Given the description of an element on the screen output the (x, y) to click on. 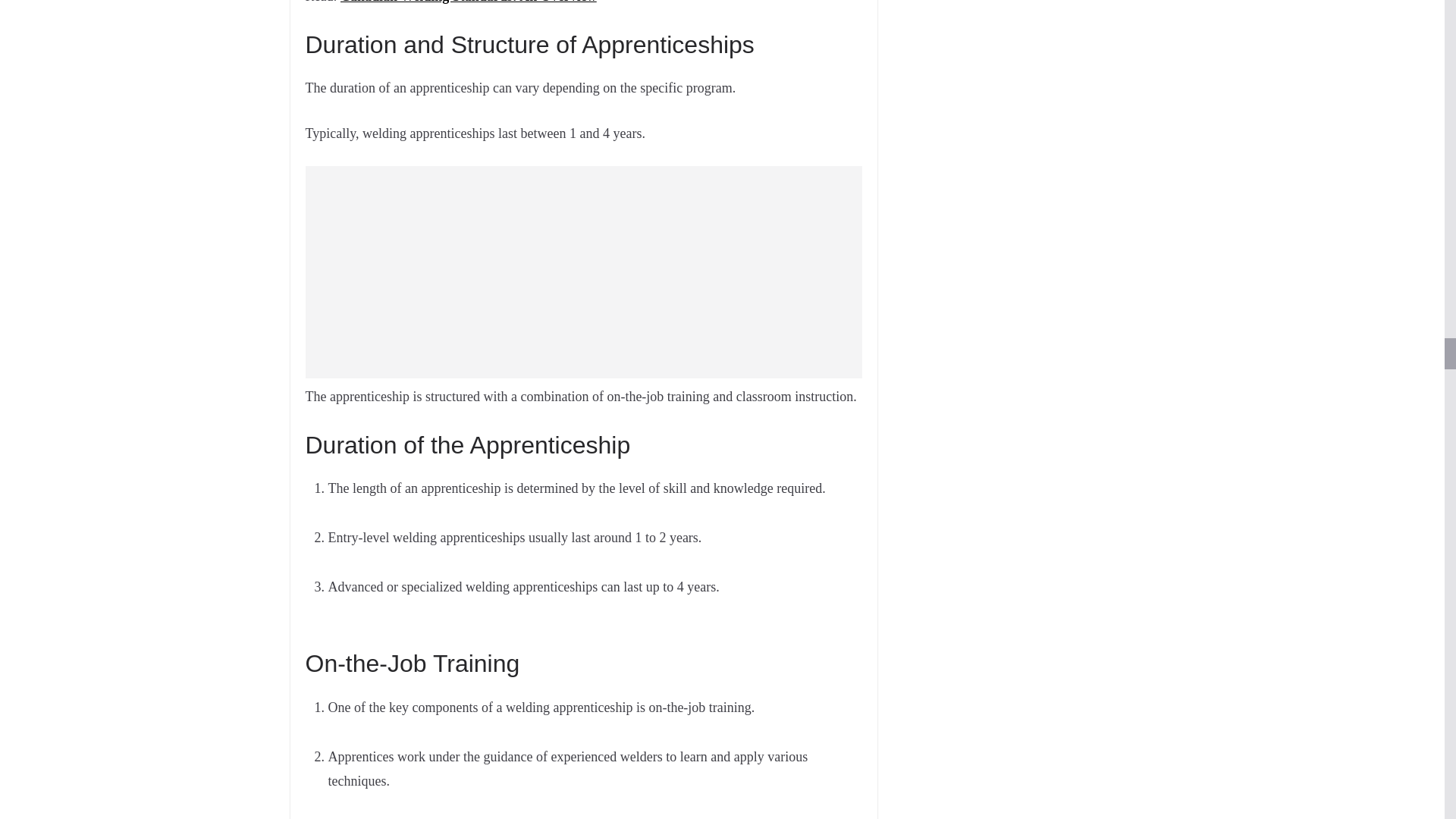
Canadian Welding Standards: An Overview (468, 2)
